Given the description of an element on the screen output the (x, y) to click on. 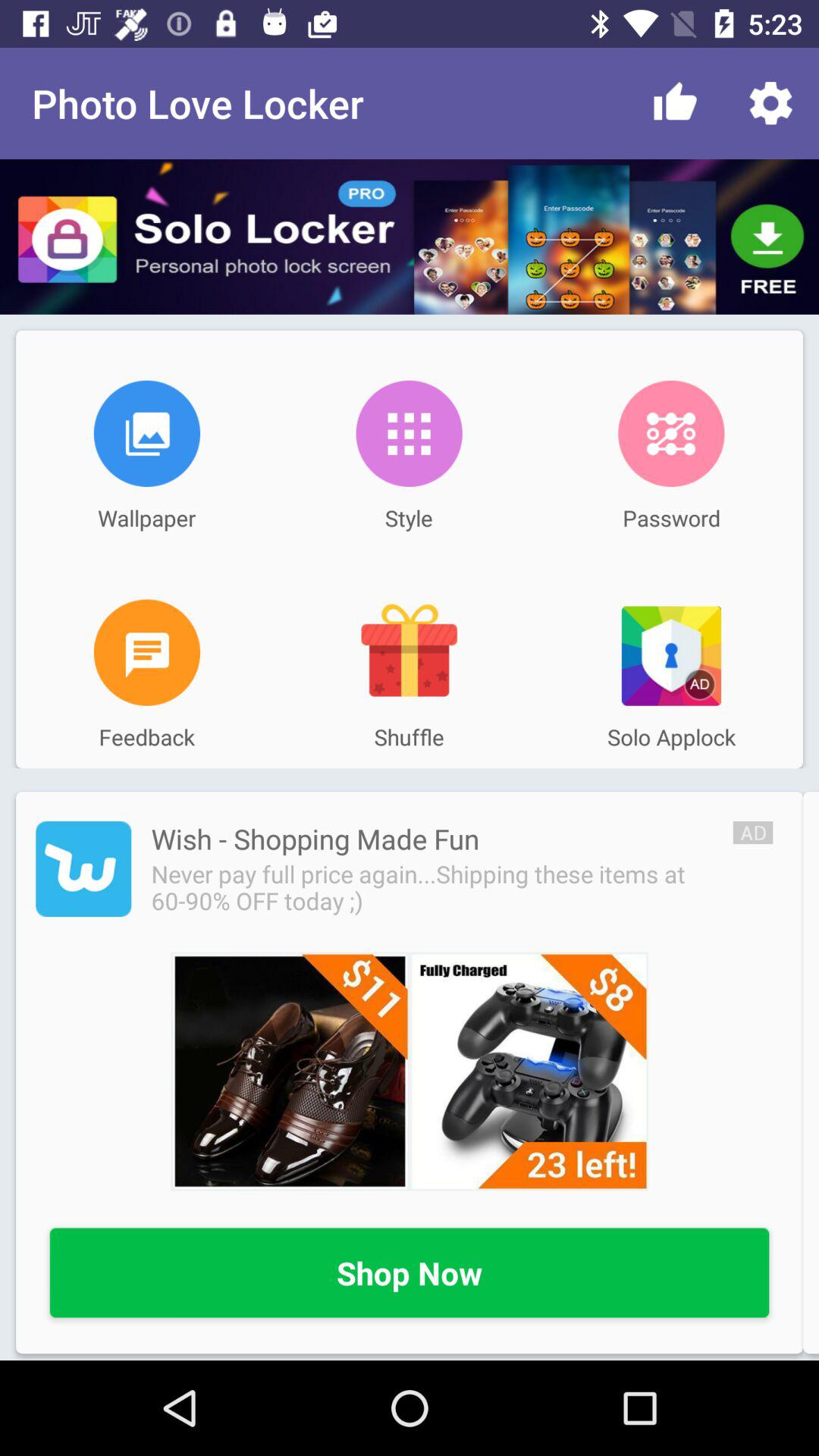
choose the shop now icon (409, 1274)
